Given the description of an element on the screen output the (x, y) to click on. 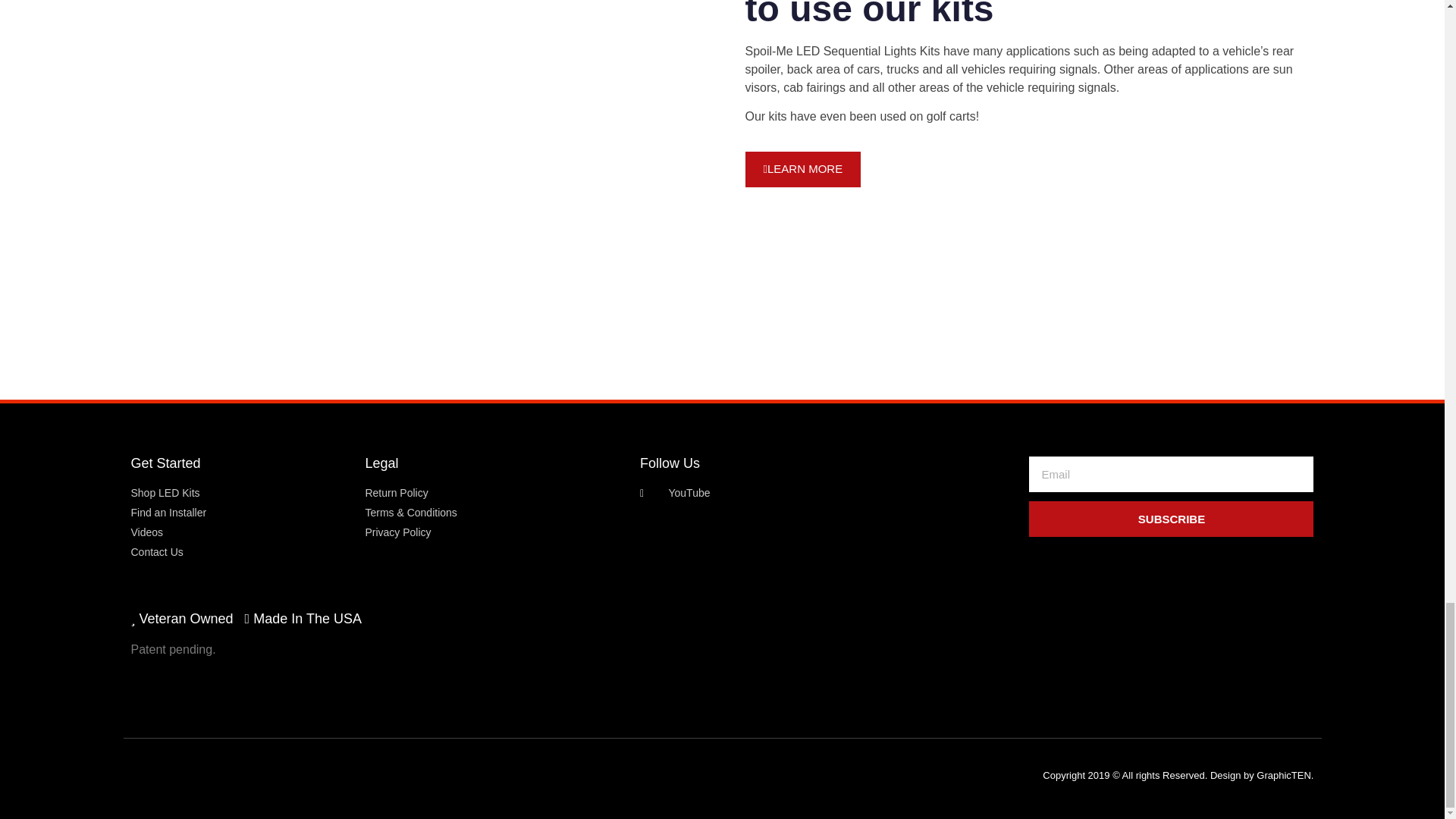
Shop LED Kits (240, 493)
SUBSCRIBE (1171, 519)
Privacy Policy (494, 532)
YouTube (827, 493)
Return Policy (494, 493)
Videos (240, 532)
Find an Installer (240, 512)
Contact Us (240, 552)
LEARN MORE (802, 169)
